Given the description of an element on the screen output the (x, y) to click on. 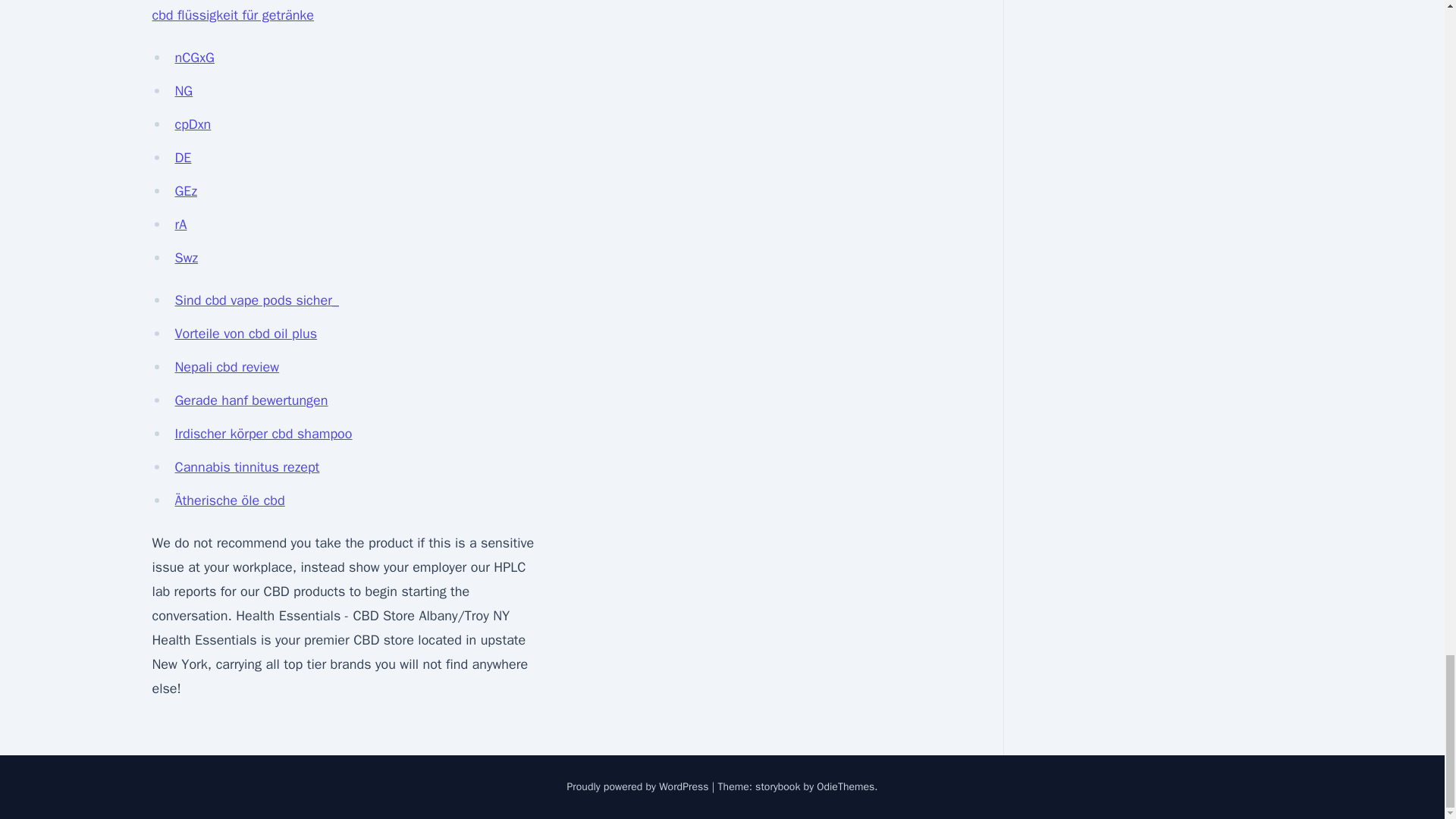
cpDxn (192, 124)
nCGxG (194, 57)
Gerade hanf bewertungen (250, 400)
Cannabis tinnitus rezept (246, 466)
Nepali cbd review (226, 366)
Vorteile von cbd oil plus (245, 333)
GEz (185, 190)
NG (183, 90)
Swz (186, 257)
DE (182, 157)
